Given the description of an element on the screen output the (x, y) to click on. 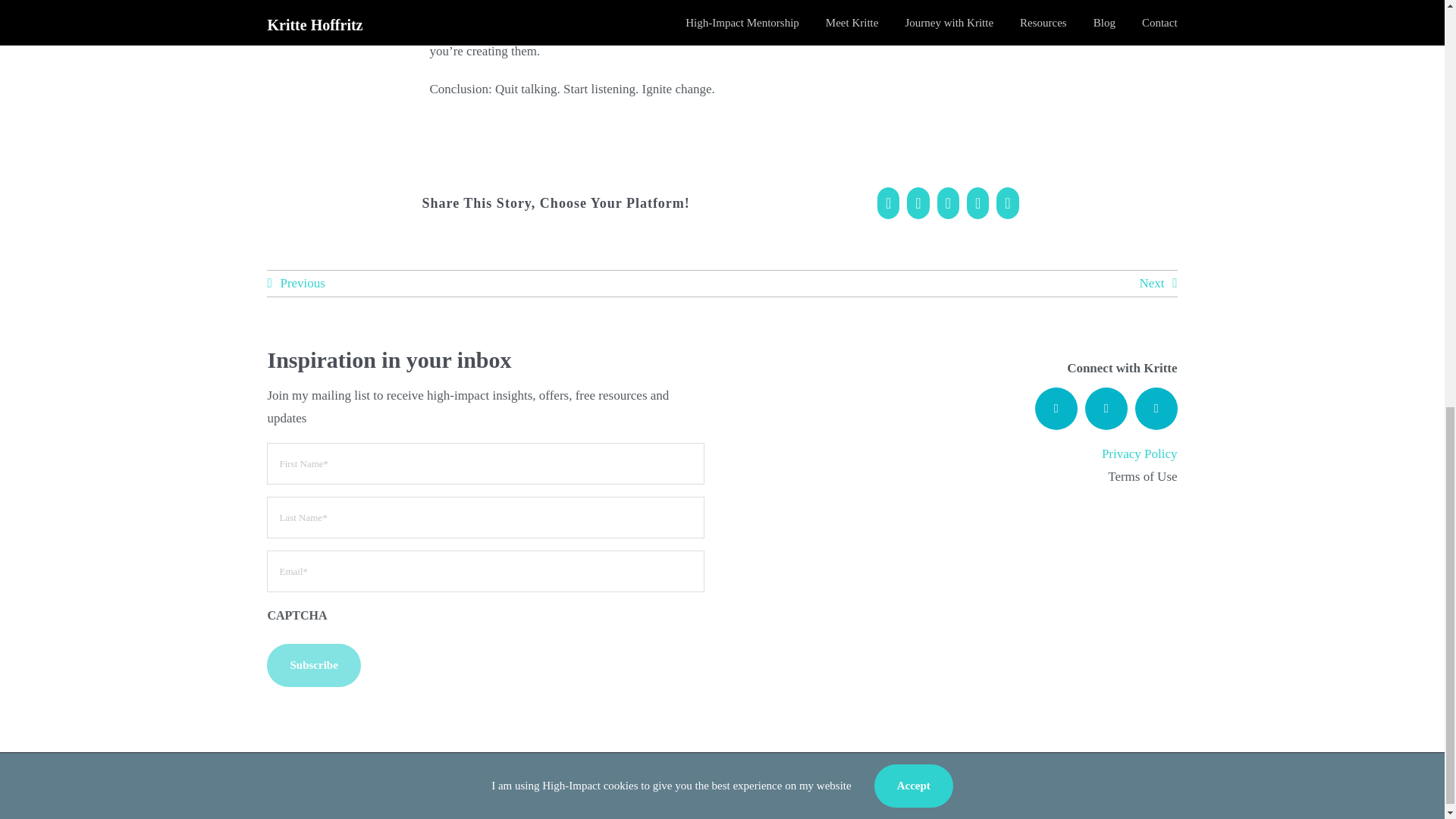
Subscribe (312, 665)
Subscribe (312, 665)
Previous (295, 283)
Privacy Policy (1139, 453)
Next (1157, 283)
